Given the description of an element on the screen output the (x, y) to click on. 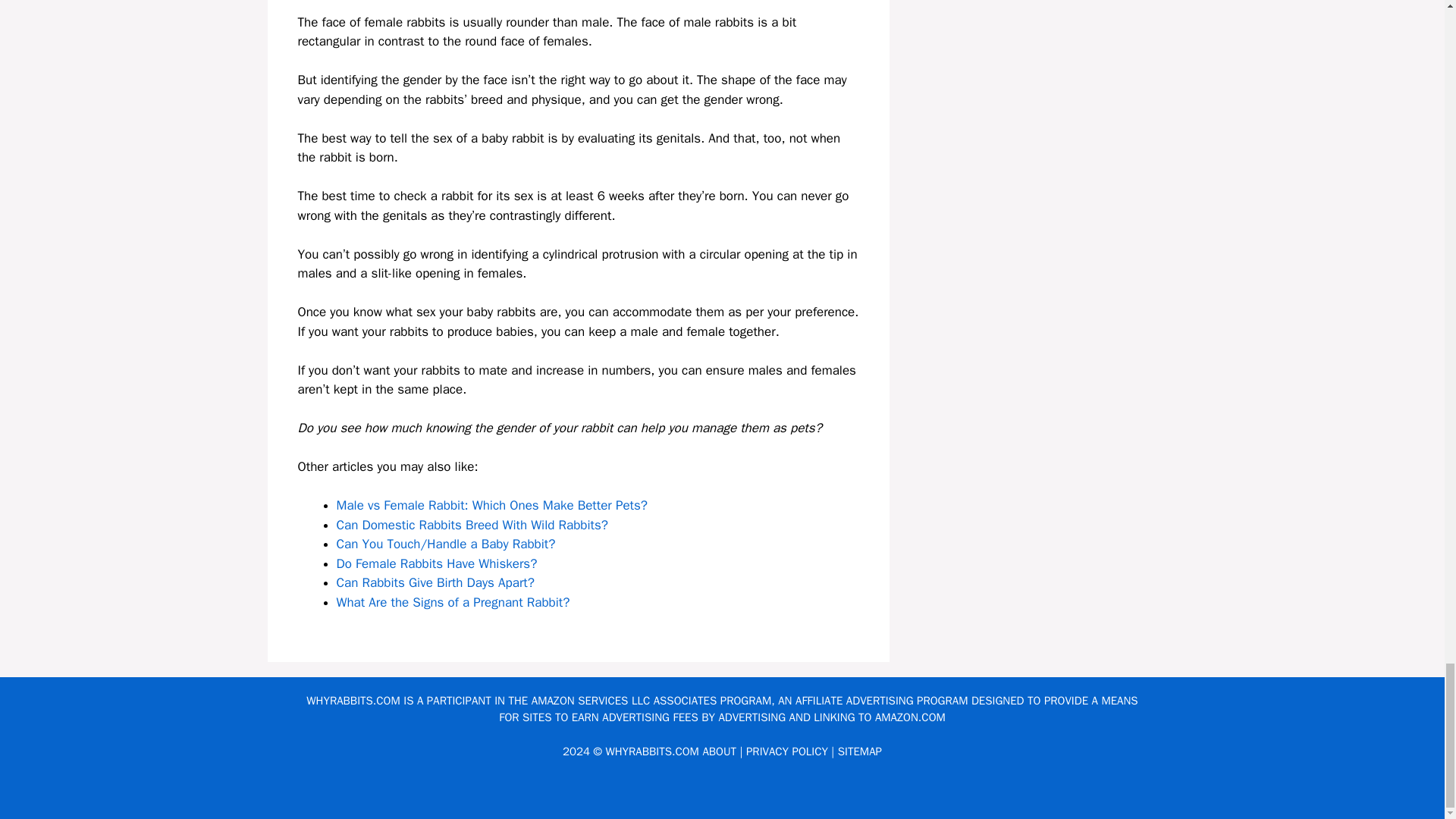
Male vs Female Rabbit: Which Ones Make Better Pets? (491, 505)
DMCA.com Protection Status (722, 794)
Do Female Rabbits Have Whiskers? (436, 563)
Can Domestic Rabbits Breed With Wild Rabbits? (472, 524)
What Are the Signs of a Pregnant Rabbit? (453, 602)
Can Rabbits Give Birth Days Apart? (435, 582)
